Given the description of an element on the screen output the (x, y) to click on. 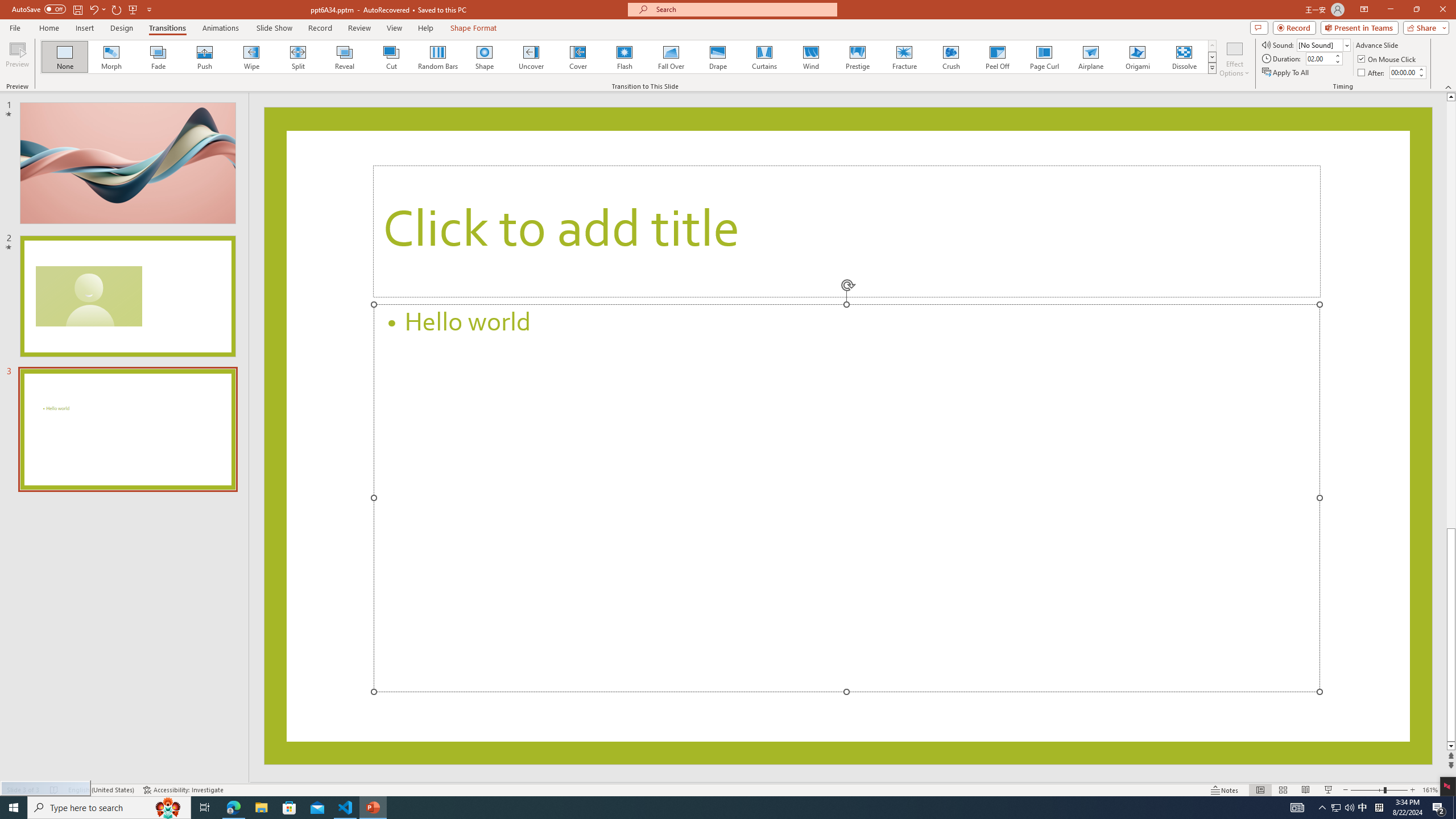
Flash (624, 56)
Reveal (344, 56)
Fracture (903, 56)
Morph (111, 56)
Effect Options (1234, 58)
Curtains (764, 56)
After (1403, 72)
